Given the description of an element on the screen output the (x, y) to click on. 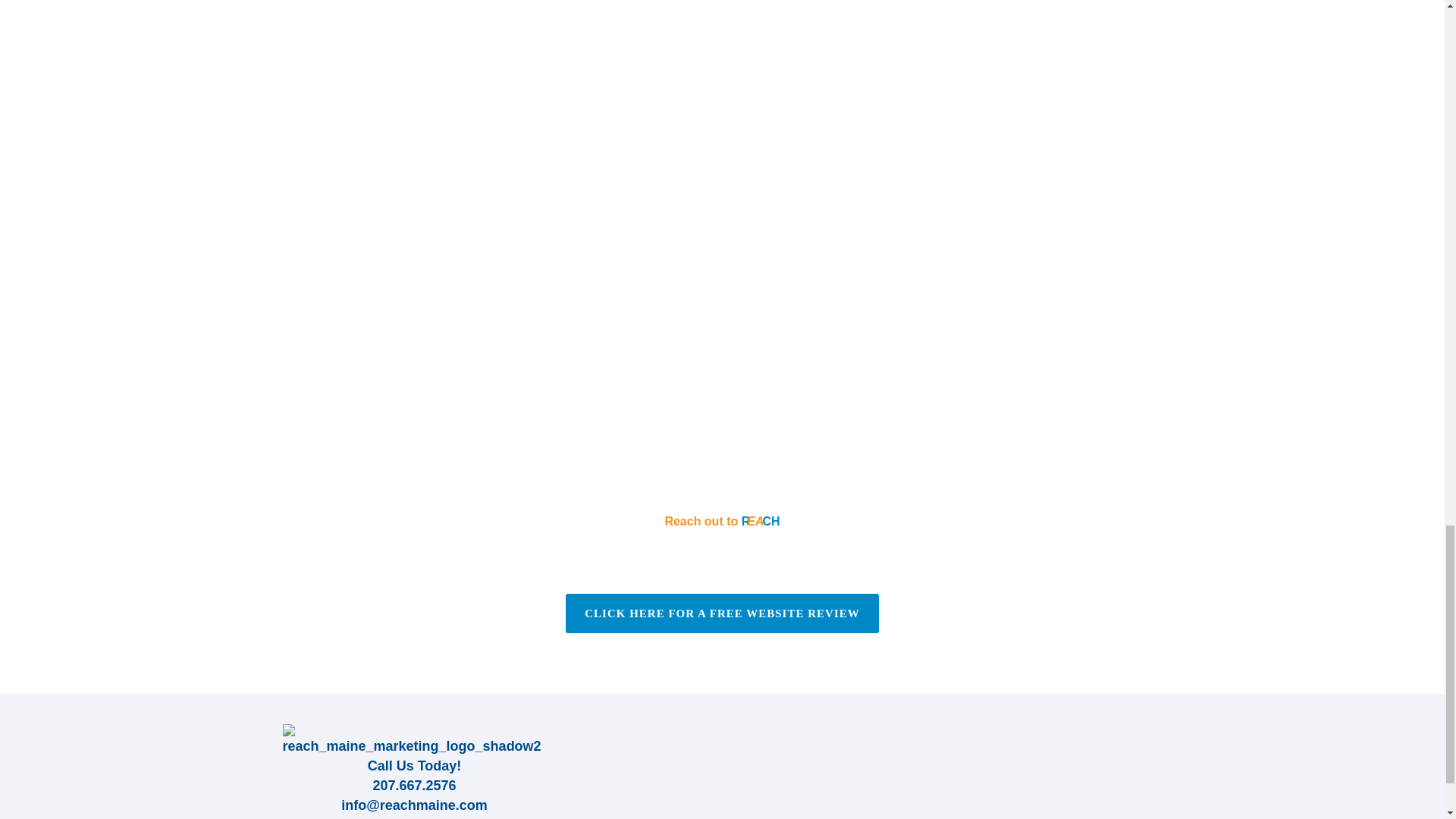
207.667.2576 (413, 785)
CLICK HERE FOR A FREE WEBSITE REVIEW (721, 613)
